Given the description of an element on the screen output the (x, y) to click on. 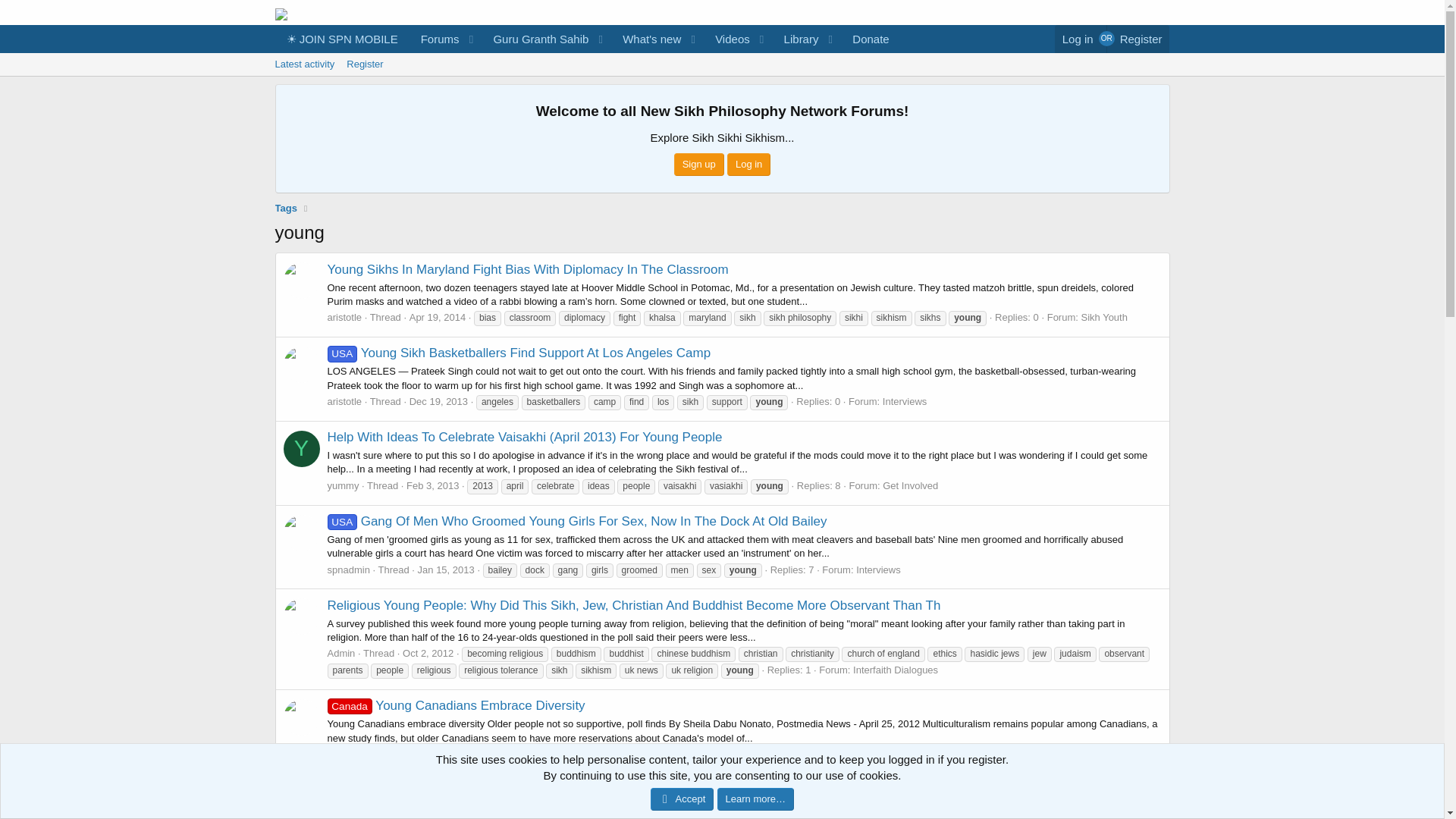
Apr 25, 2012 at 10:59 AM (493, 754)
Dec 19, 2013 at 12:19 AM (438, 401)
Oct 2, 2012 at 9:44 AM (427, 653)
Jan 15, 2013 at 11:38 AM (445, 569)
Feb 3, 2013 at 3:12 PM (432, 485)
Apr 19, 2014 at 2:51 AM (437, 317)
Guru Granth Sahib (535, 39)
Forums (720, 64)
